Given the description of an element on the screen output the (x, y) to click on. 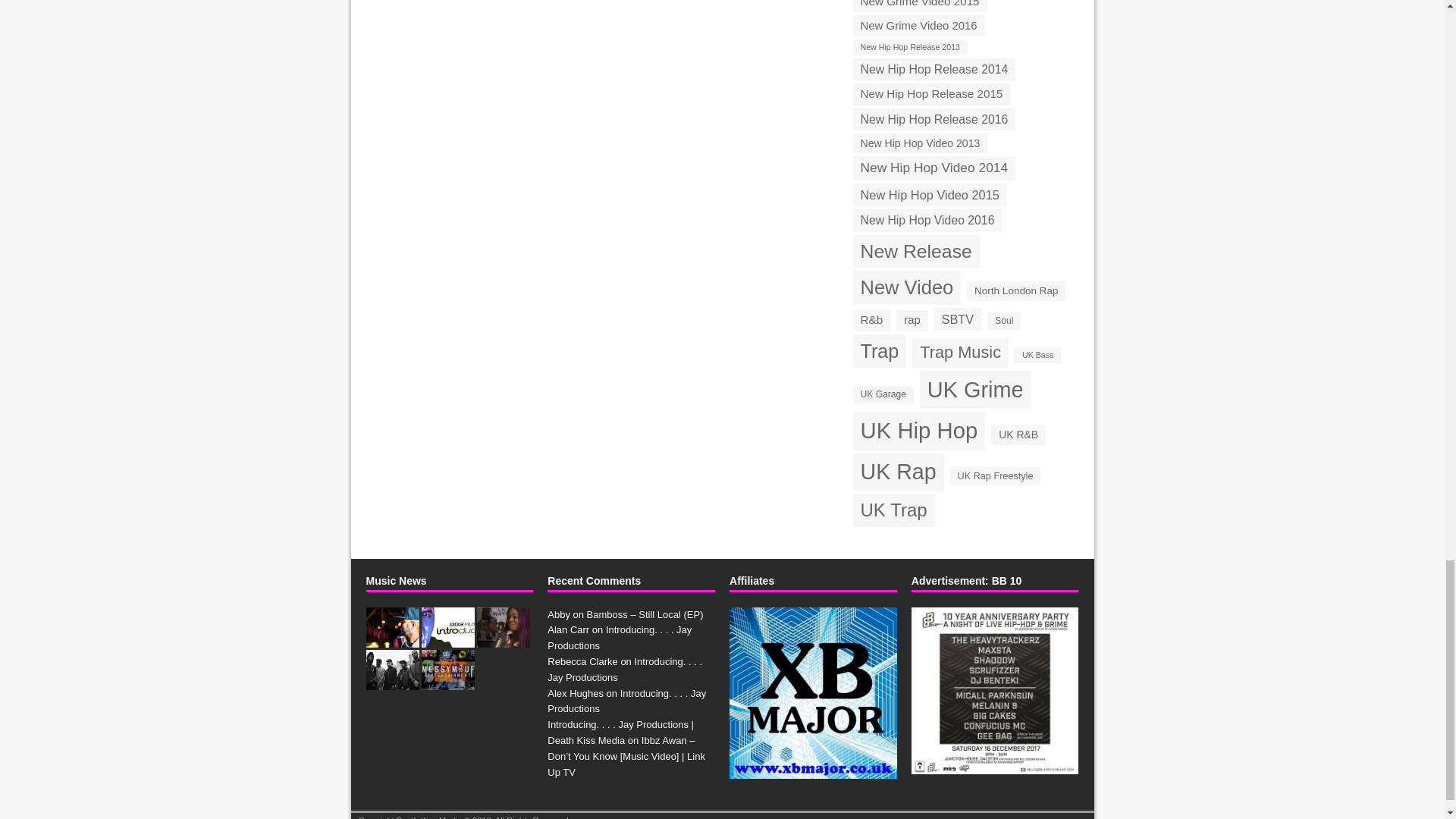
67 Nominated For Best Newcomers At The MOBO Awards (392, 681)
ABSORB ANNOUNCES BBC INTRODUCING LIVE SESSION! (448, 638)
Introducing. . . . Jay Productions (392, 638)
